Given the description of an element on the screen output the (x, y) to click on. 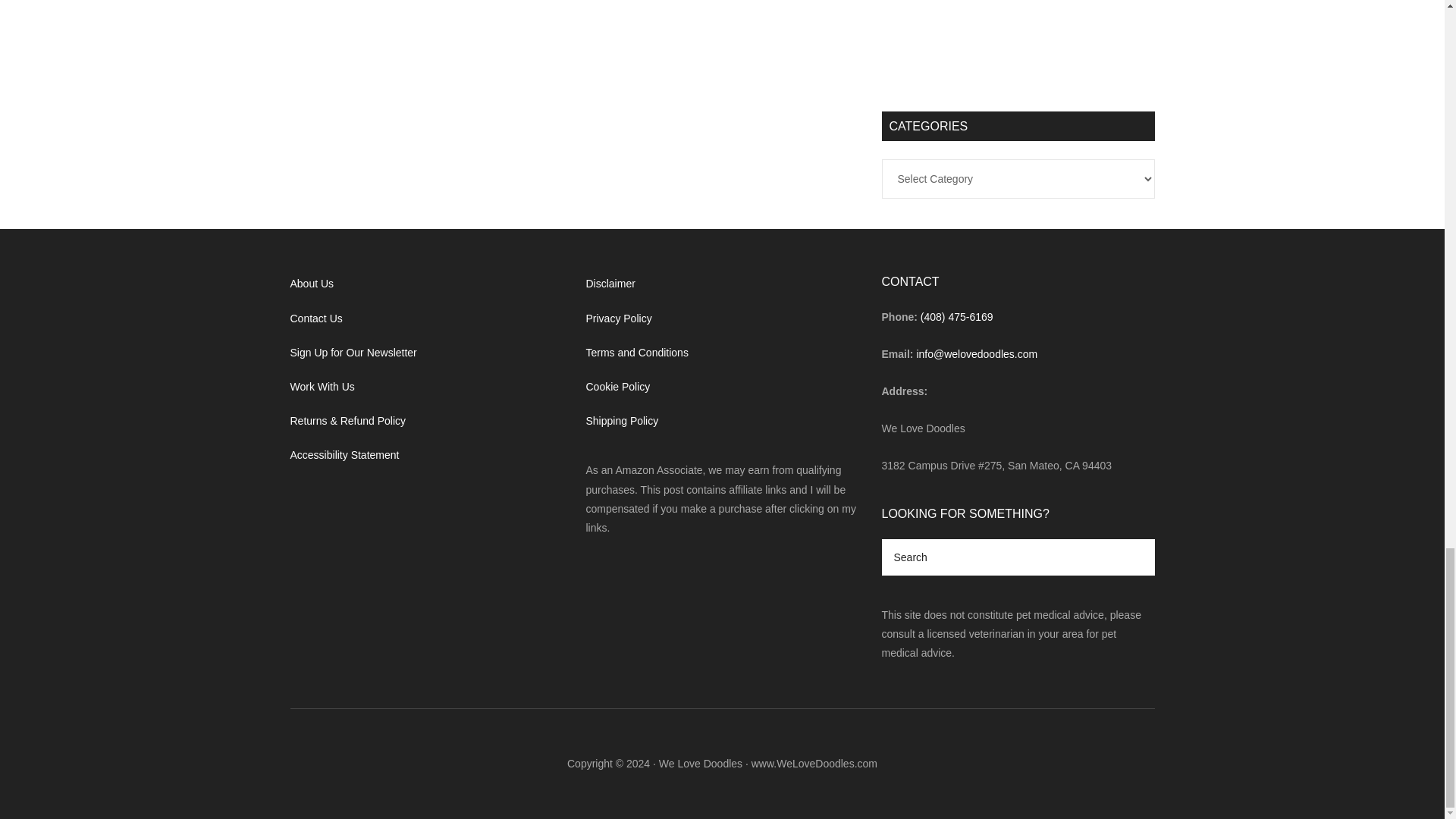
Sign Up for Our Newsletter (352, 352)
About Us (311, 283)
Contact Us (315, 318)
Work With Us (321, 386)
